Given the description of an element on the screen output the (x, y) to click on. 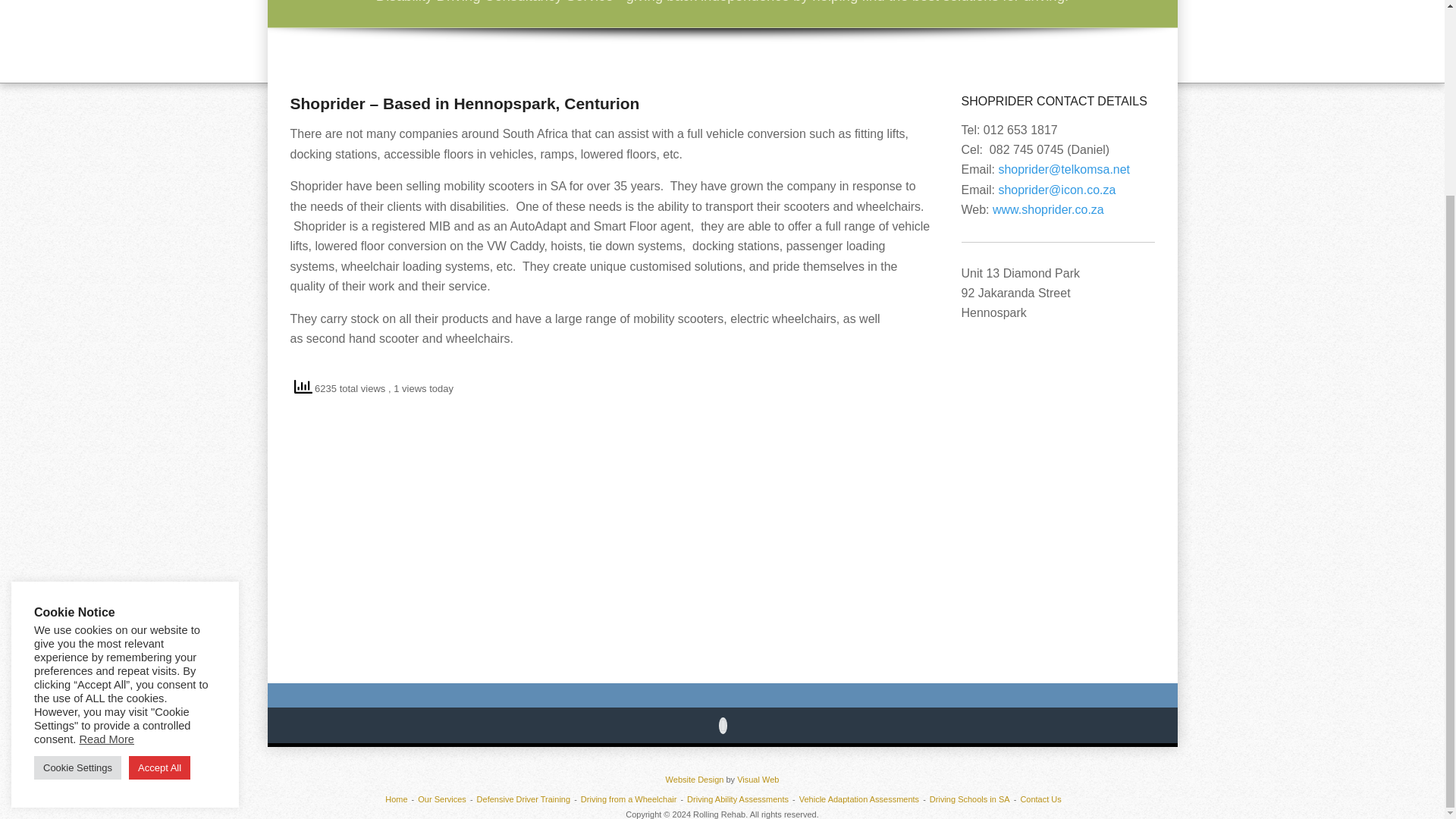
Home (396, 798)
Website Design (694, 778)
Driving Ability Assessments (738, 798)
www.shoprider.co.za (1047, 209)
Our Services (441, 798)
Defensive Driver Training (523, 798)
Visual Web (757, 778)
Driving from a Wheelchair (628, 798)
Web Design Vaal Triangle (757, 778)
